Given the description of an element on the screen output the (x, y) to click on. 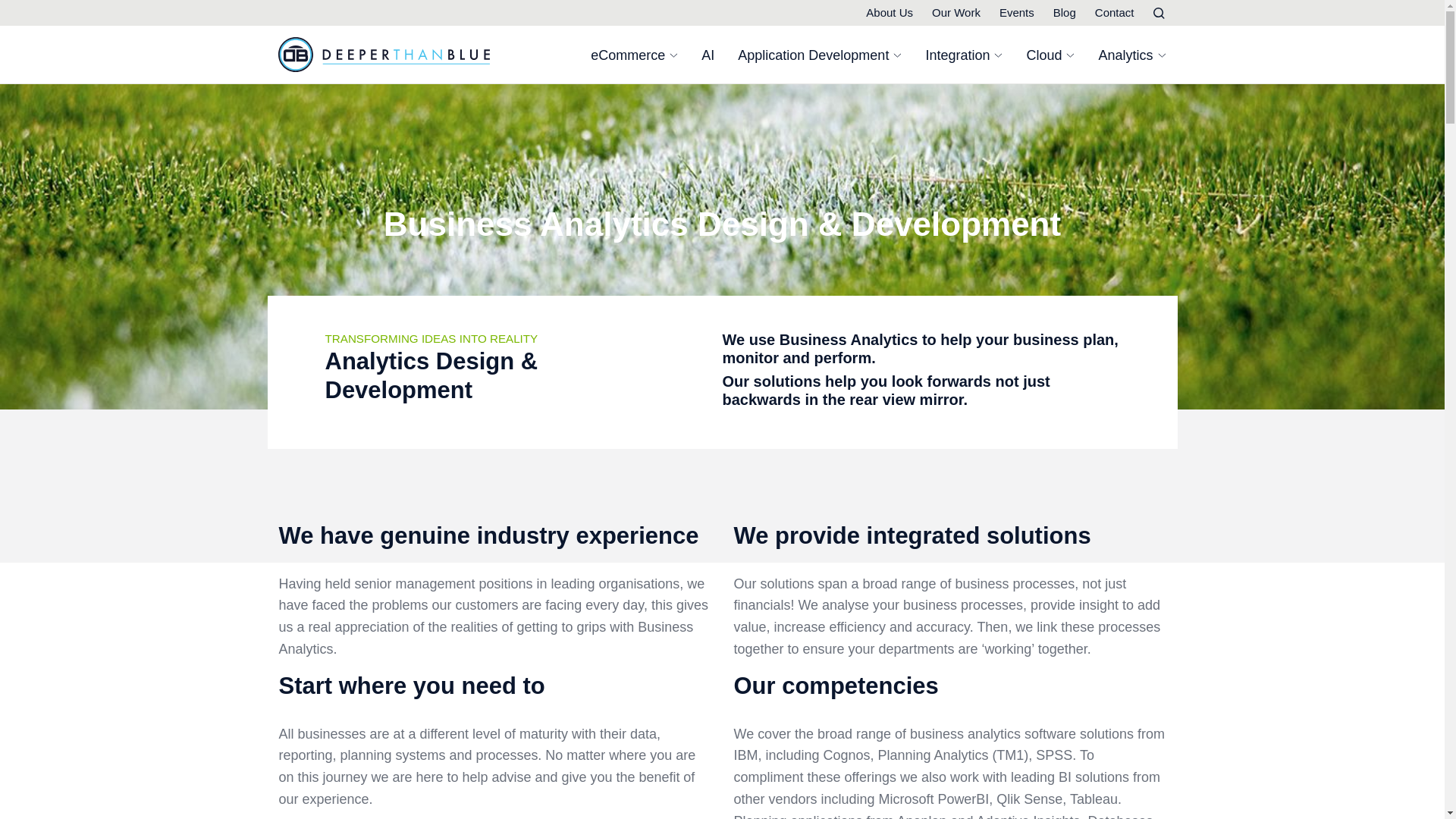
eCommerce (634, 55)
Our Work (955, 11)
Events (1015, 11)
About Us (889, 11)
Contact (1114, 11)
Blog (1063, 11)
